Given the description of an element on the screen output the (x, y) to click on. 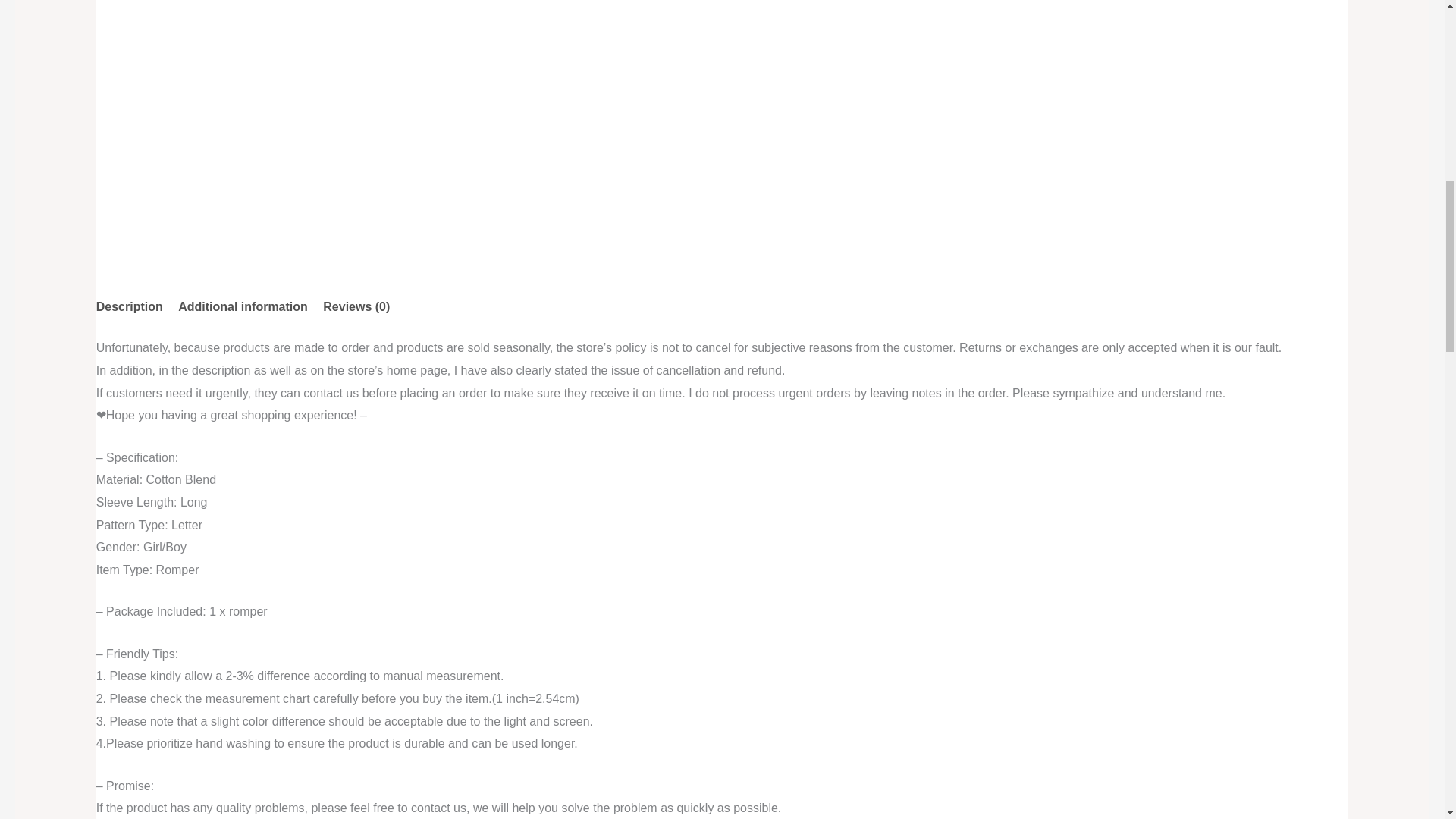
Description (129, 306)
Additional information (242, 306)
